Given the description of an element on the screen output the (x, y) to click on. 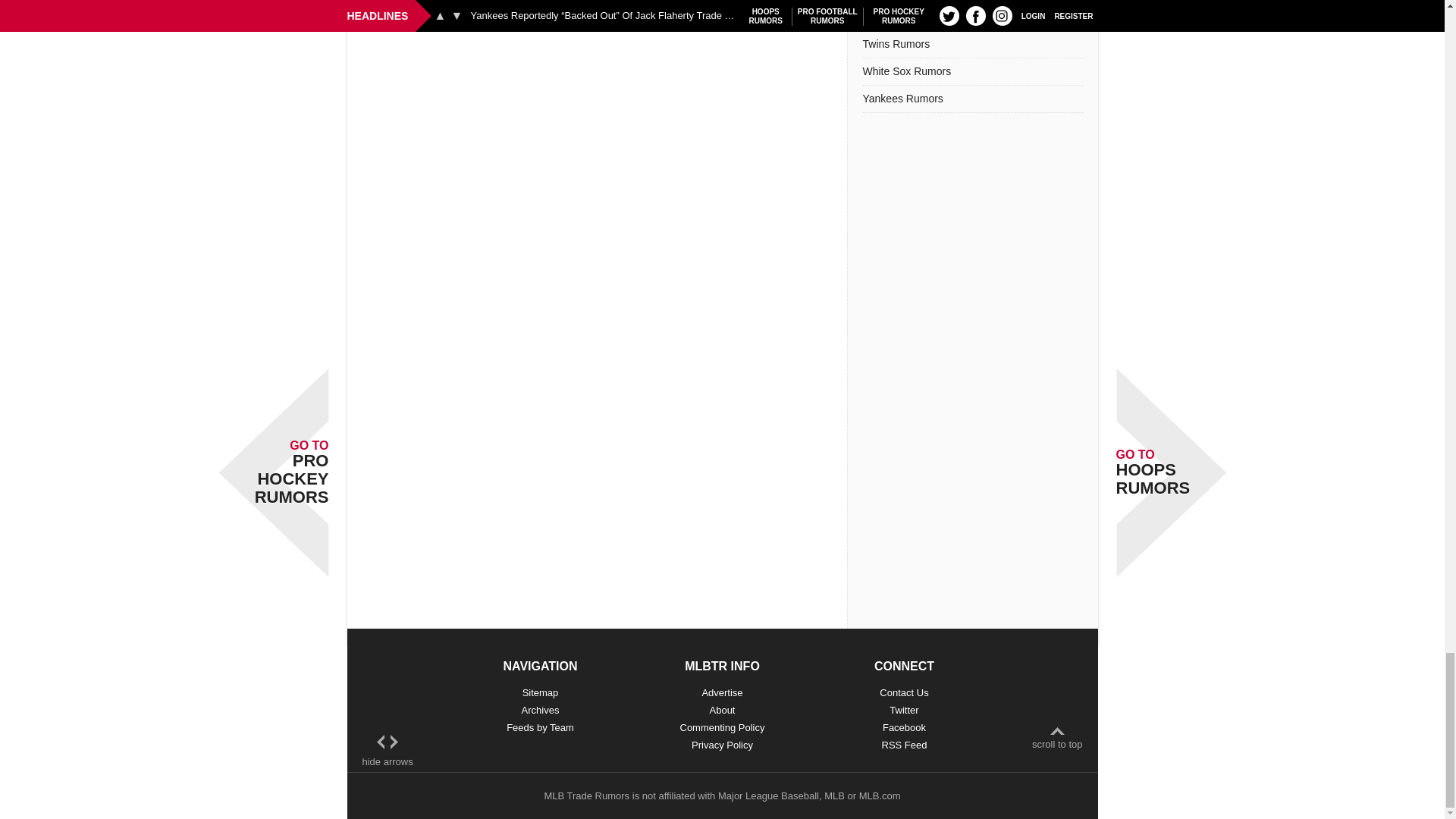
MLB Trade Rumors (585, 795)
